Given the description of an element on the screen output the (x, y) to click on. 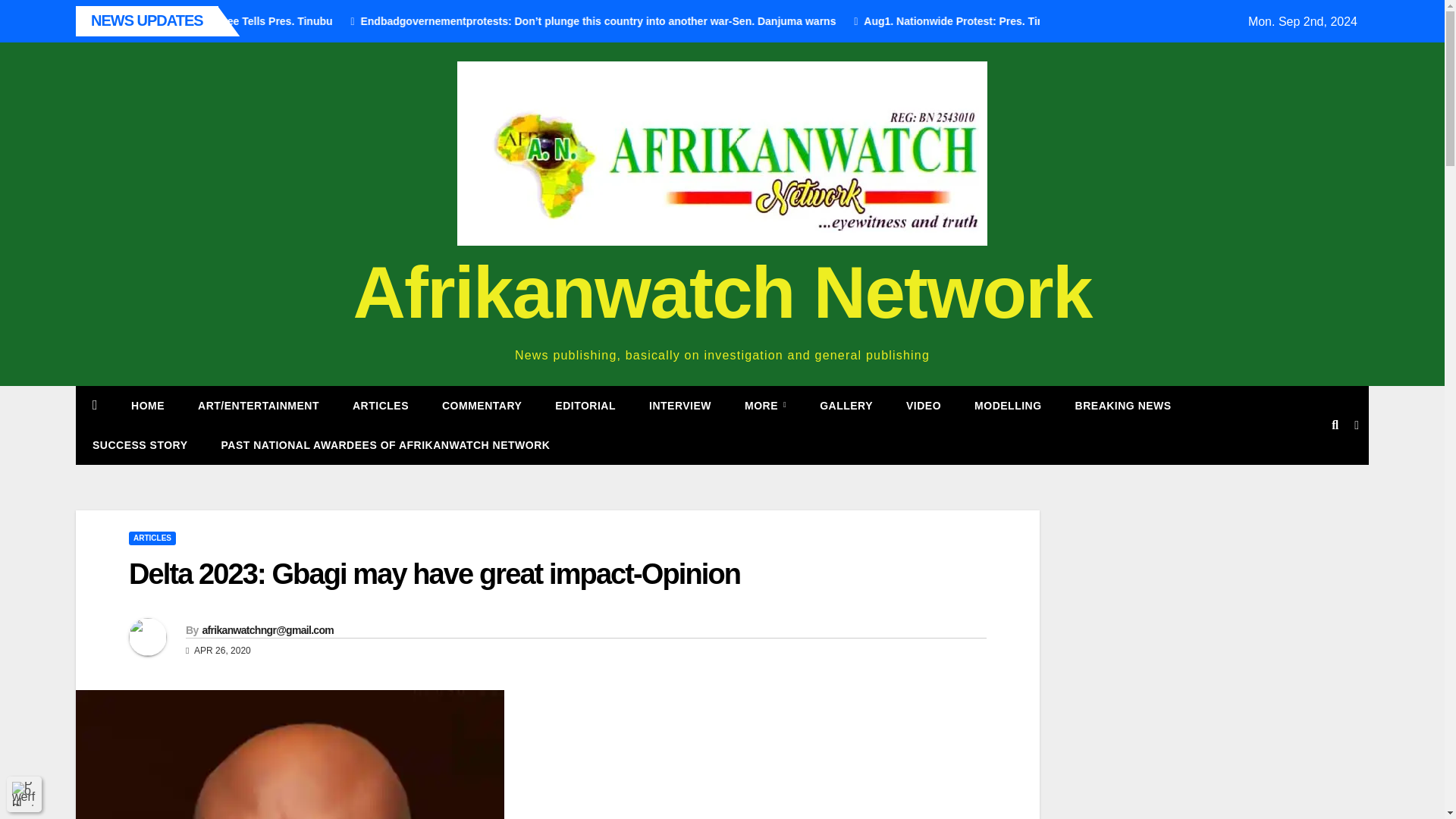
HOME (147, 405)
ARTICLES (380, 405)
COMMENTARY (481, 405)
INTERVIEW (679, 405)
Articles (380, 405)
BREAKING NEWS (1123, 405)
More (765, 405)
SUCCESS STORY (140, 445)
VIDEO (923, 405)
GALLERY (846, 405)
